Given the description of an element on the screen output the (x, y) to click on. 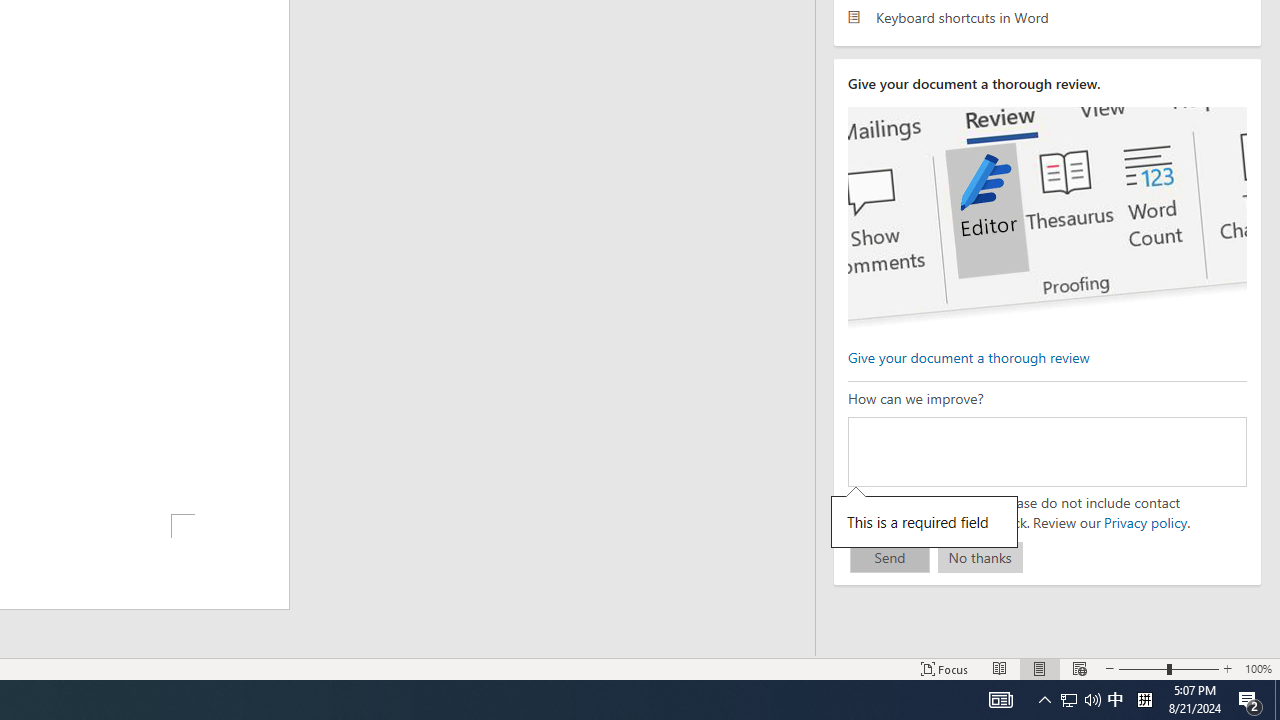
Zoom 100% (1258, 668)
Give your document a thorough review (968, 356)
Privacy policy (1144, 522)
Send (889, 557)
editor ui screenshot (1046, 218)
How can we improve? (1046, 451)
Keyboard shortcuts in Word (1047, 16)
No thanks (980, 557)
